Given the description of an element on the screen output the (x, y) to click on. 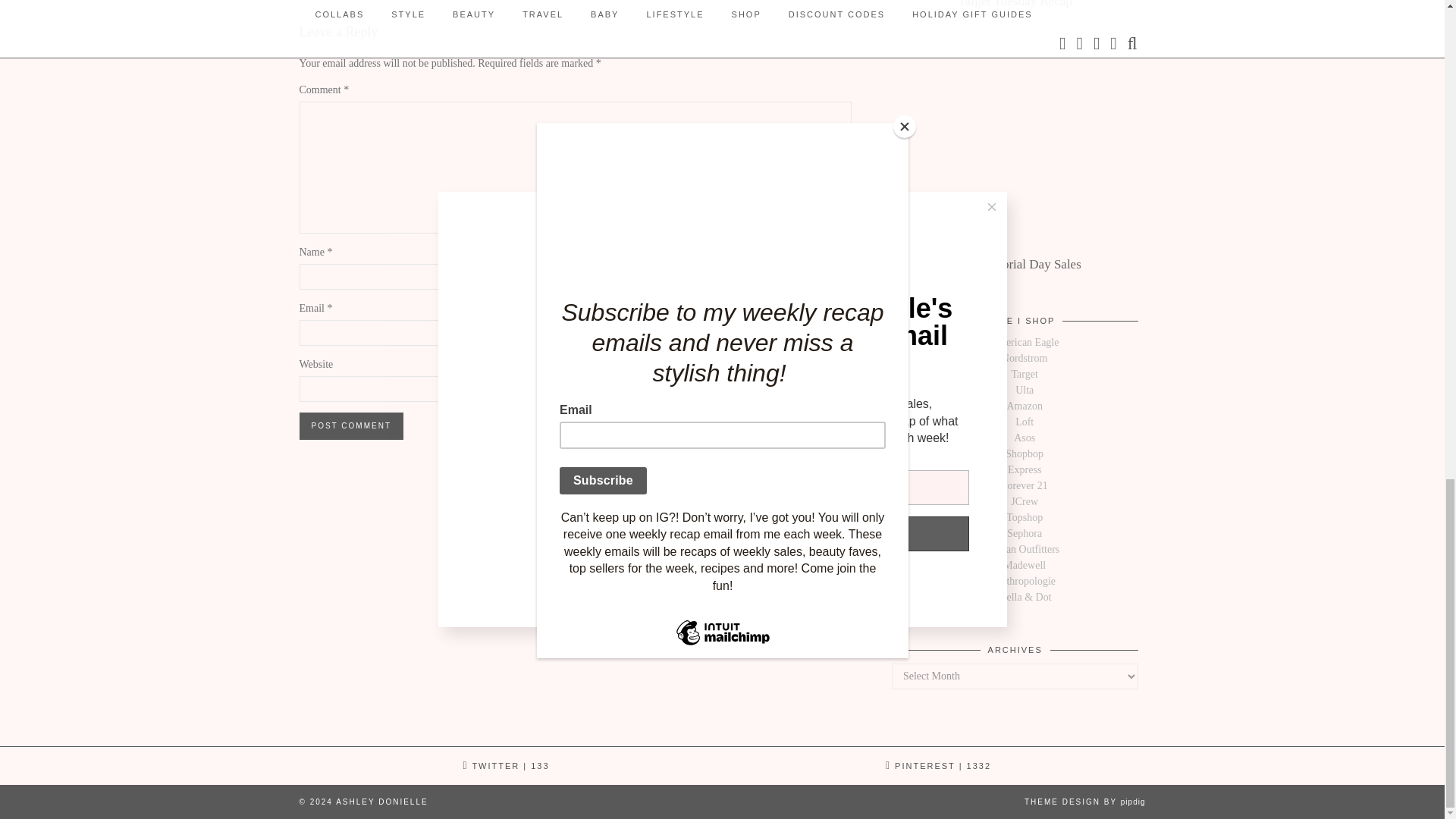
Post Comment (350, 425)
